Given the description of an element on the screen output the (x, y) to click on. 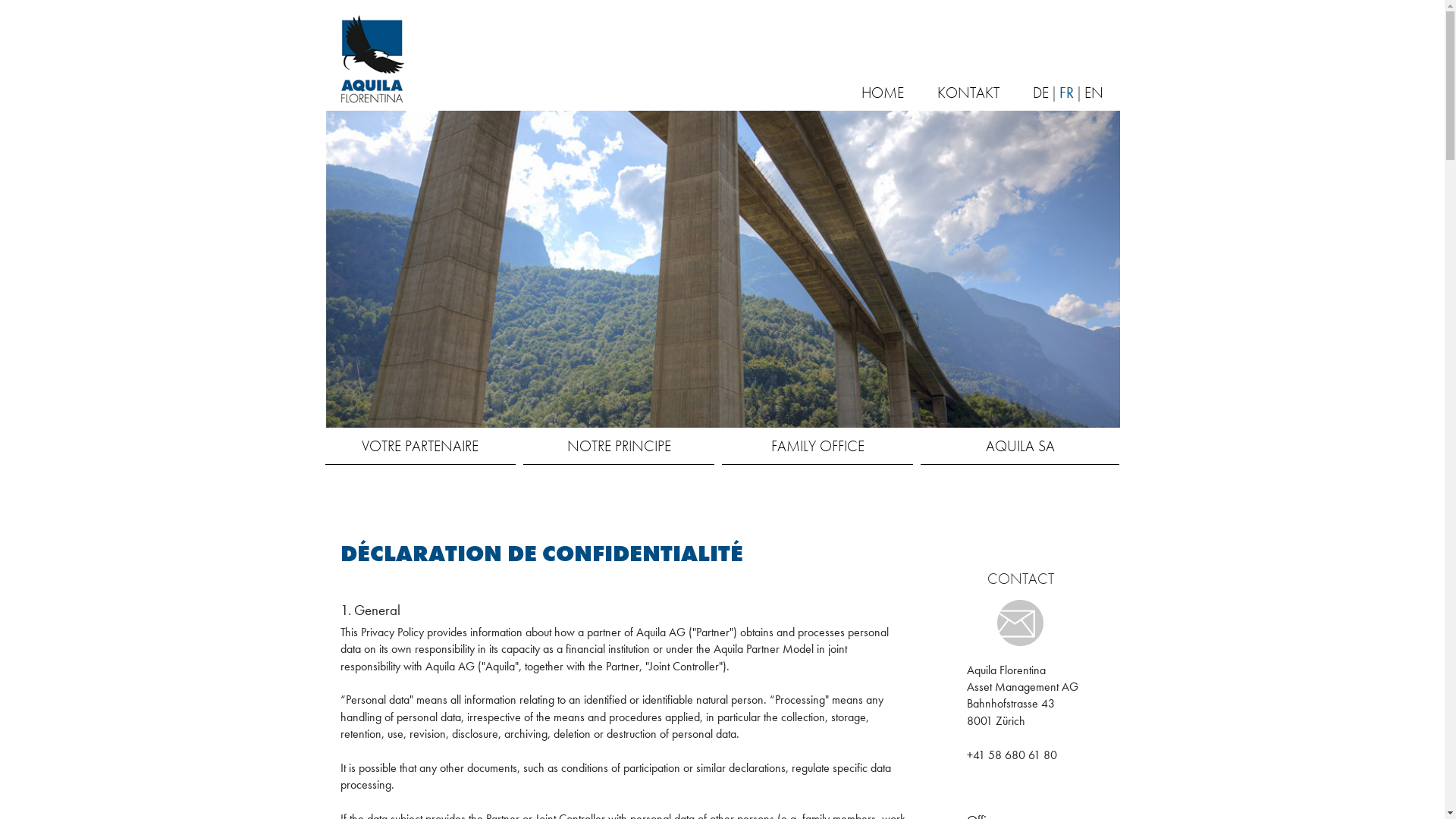
HOME Element type: text (882, 92)
FR Element type: text (1065, 92)
NOTRE PRINCIPE Element type: text (618, 445)
AQUILA SA Element type: text (1019, 445)
VOTRE PARTENAIRE Element type: text (419, 445)
DE Element type: text (1040, 92)
FAMILY OFFICE Element type: text (817, 445)
KONTAKT Element type: text (968, 92)
EN Element type: text (1093, 92)
